Given the description of an element on the screen output the (x, y) to click on. 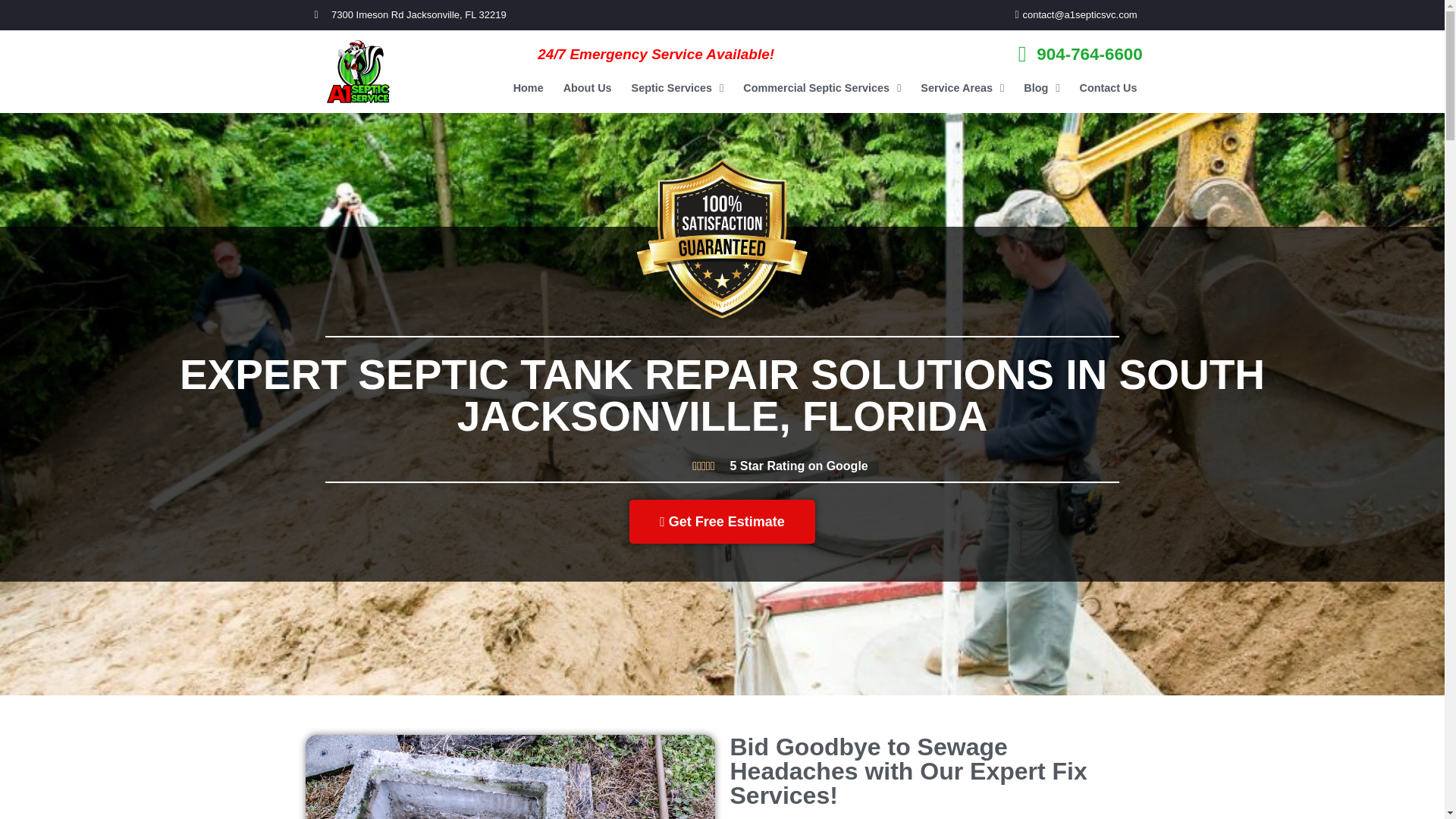
About Us (587, 87)
Home (528, 87)
Commercial Septic Services (822, 87)
Septic Services (677, 87)
Blog (1040, 87)
Service Areas (962, 87)
7300 Imeson Rd Jacksonville, FL 32219 (514, 14)
904-764-6600 (961, 53)
